Given the description of an element on the screen output the (x, y) to click on. 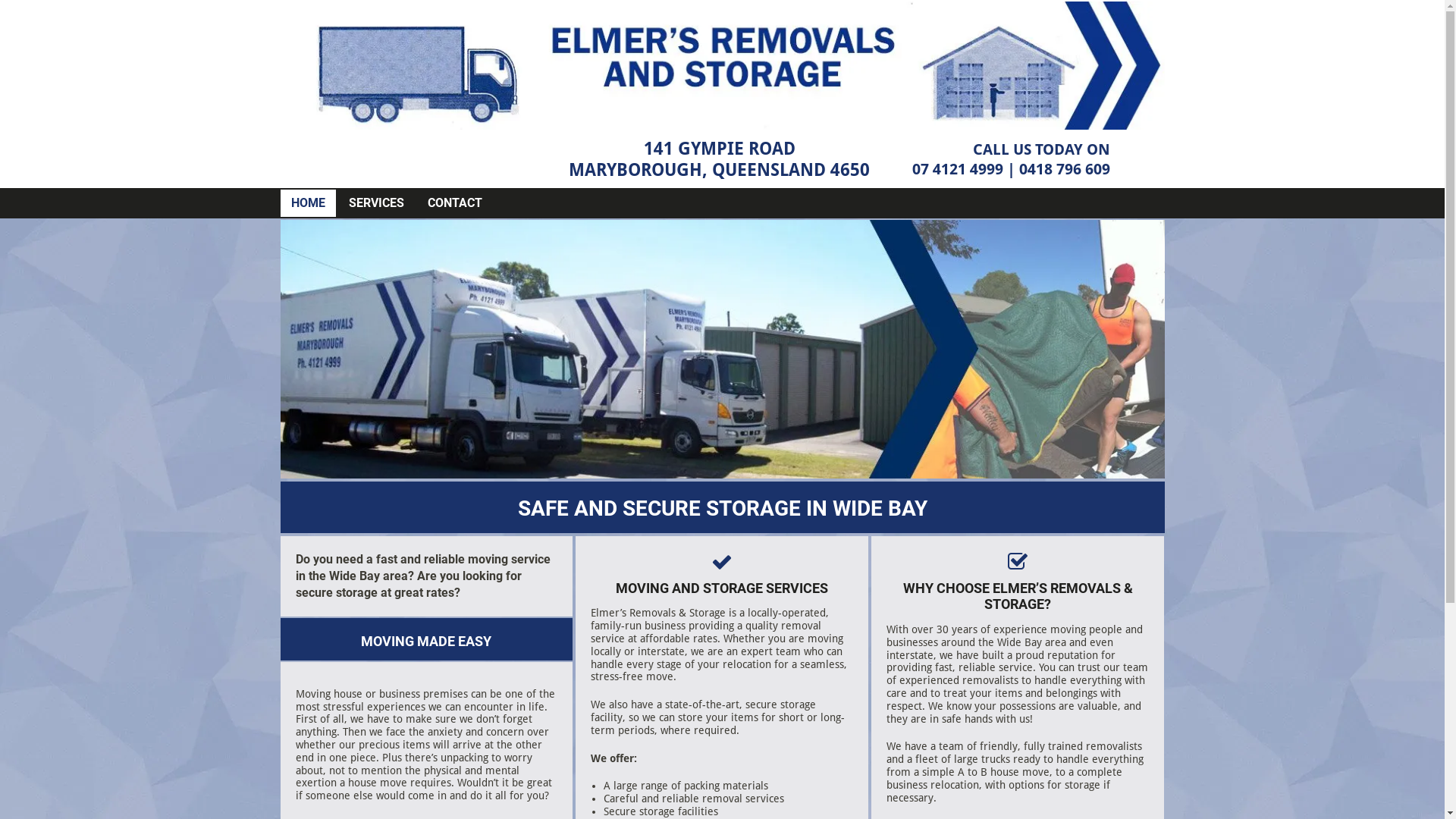
HOME Element type: text (308, 203)
elmers removals and storage header Element type: hover (722, 65)
0418 796 609 Element type: text (1064, 169)
CONTACT Element type: text (454, 203)
SERVICES Element type: text (376, 203)
07 4121 4999 Element type: text (957, 169)
elmers removals and storage storage trucks Element type: hover (722, 348)
